Given the description of an element on the screen output the (x, y) to click on. 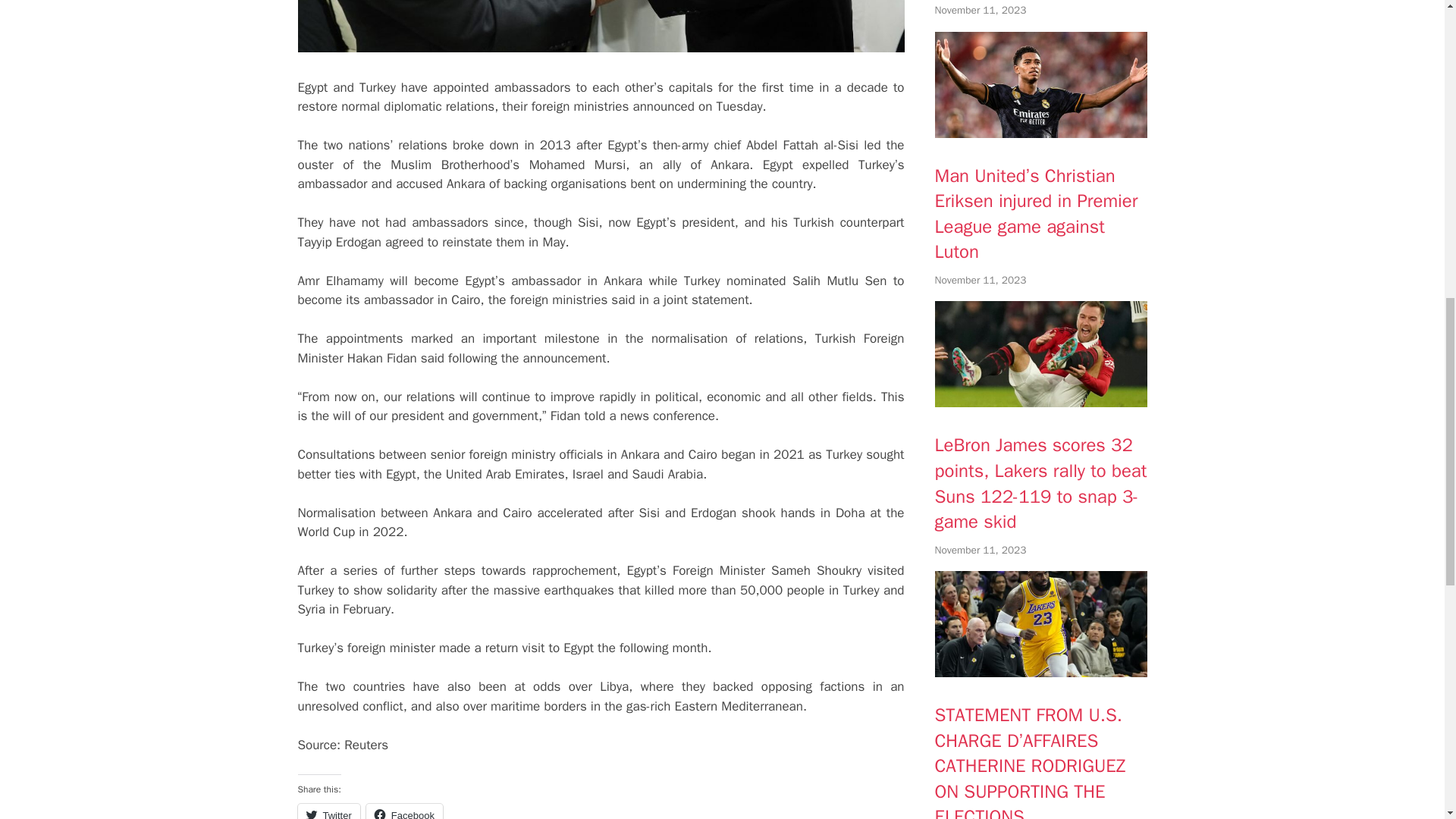
November 11, 2023 (980, 279)
Facebook (404, 811)
Click to share on Facebook (404, 811)
Twitter (328, 811)
6:15 pm (980, 10)
6:06 pm (980, 549)
November 11, 2023 (980, 549)
Click to share on Twitter (328, 811)
November 11, 2023 (980, 10)
6:10 pm (980, 279)
